Given the description of an element on the screen output the (x, y) to click on. 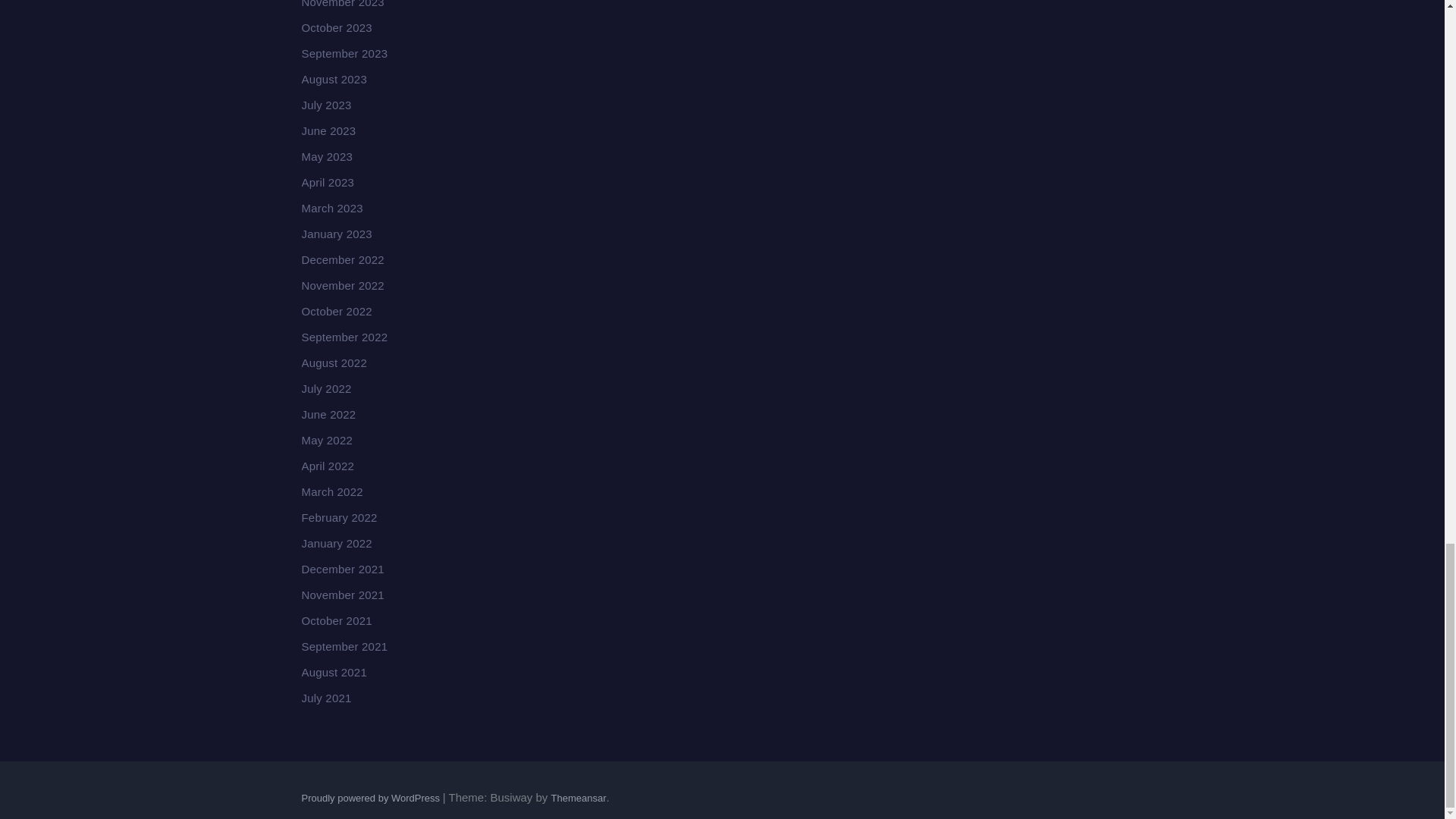
March 2023 (331, 207)
August 2023 (333, 78)
June 2023 (328, 130)
May 2023 (326, 155)
July 2023 (326, 104)
April 2023 (328, 182)
January 2023 (336, 233)
October 2023 (336, 27)
November 2023 (342, 4)
September 2023 (344, 52)
